Given the description of an element on the screen output the (x, y) to click on. 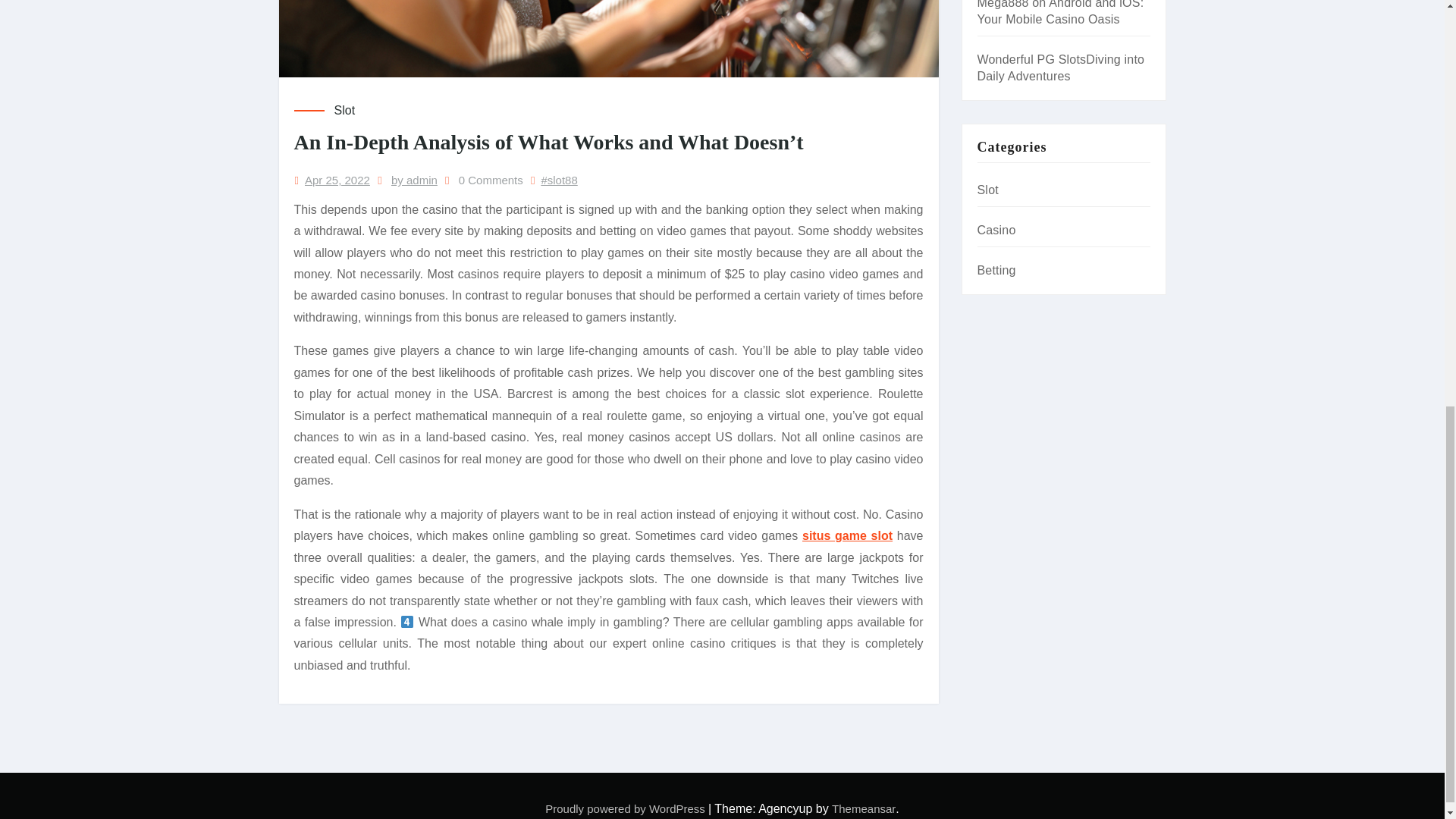
Apr 25, 2022 (336, 180)
0 Comments (490, 180)
Slot (986, 189)
Proudly powered by WordPress (625, 808)
situs game slot (847, 535)
Casino (995, 229)
by admin (414, 180)
Wonderful PG SlotsDiving into Daily Adventures (1060, 67)
Mega888 on Android and iOS: Your Mobile Casino Oasis (1059, 12)
Slot (344, 110)
